Given the description of an element on the screen output the (x, y) to click on. 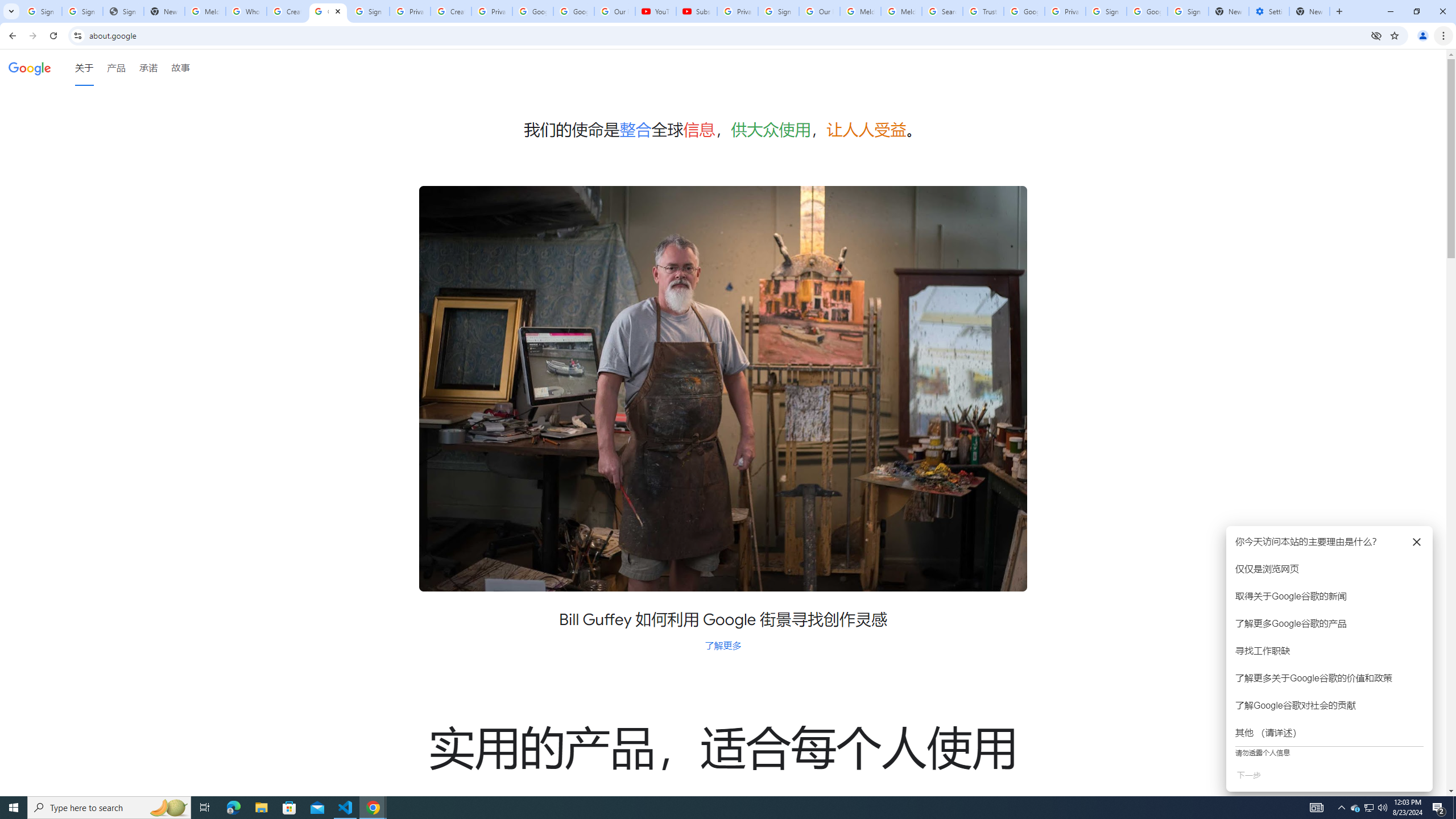
New Tab (1309, 11)
Subscriptions - YouTube (696, 11)
Sign in - Google Accounts (368, 11)
Create your Google Account (287, 11)
Who is my administrator? - Google Account Help (246, 11)
Google Ads - Sign in (1023, 11)
Sign in - Google Accounts (41, 11)
